Given the description of an element on the screen output the (x, y) to click on. 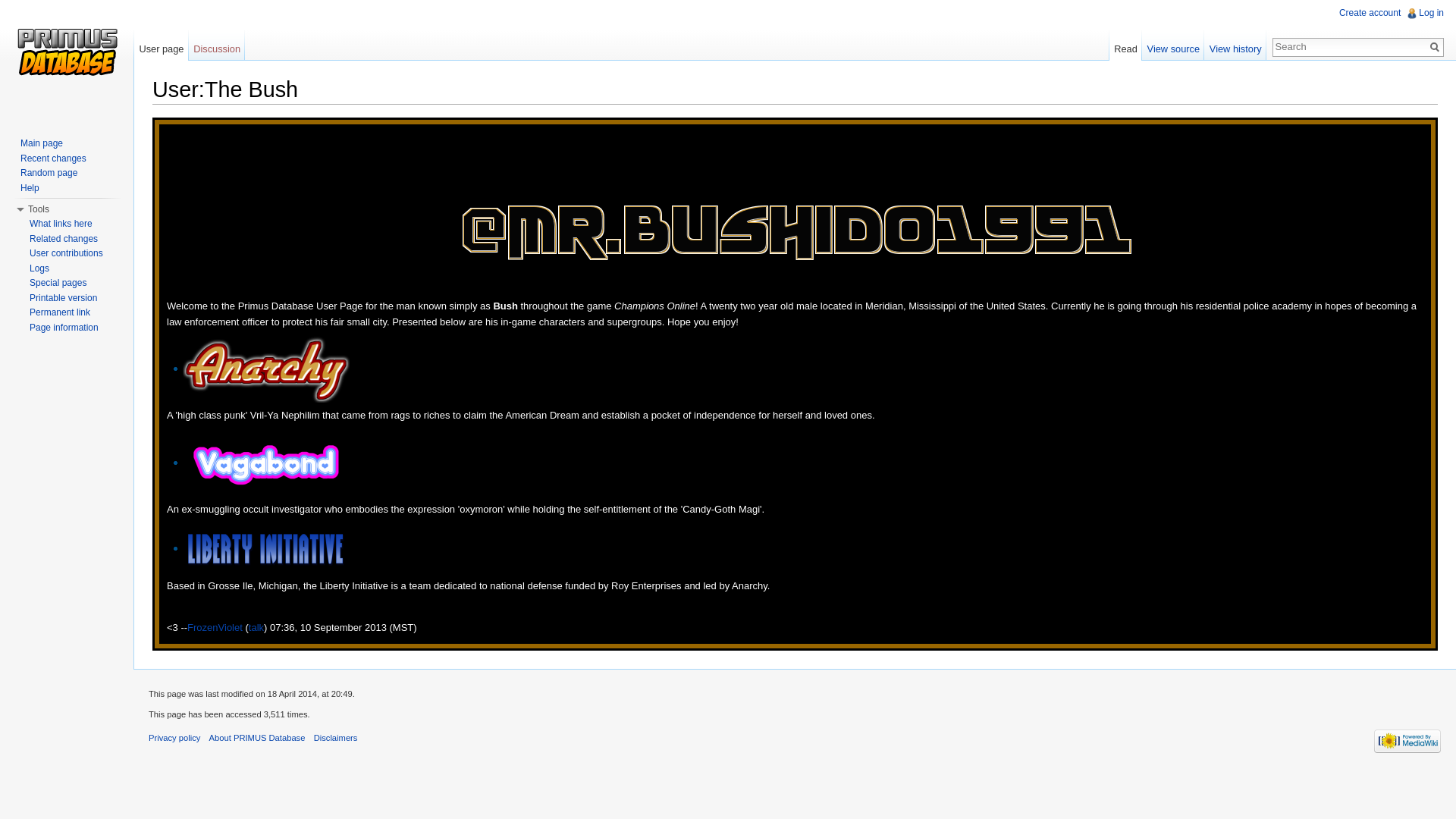
View source (1172, 45)
Log in (1431, 12)
Go (1434, 46)
User page (161, 45)
Printable version (63, 297)
A list of contributions of this user (66, 253)
Discussion (217, 45)
Visit the main page (66, 60)
Go (1434, 46)
Page information (64, 326)
The place to find out (29, 186)
Go (1434, 46)
User:FrozenViolet (215, 627)
Tools (38, 208)
Recent changes (52, 158)
